Given the description of an element on the screen output the (x, y) to click on. 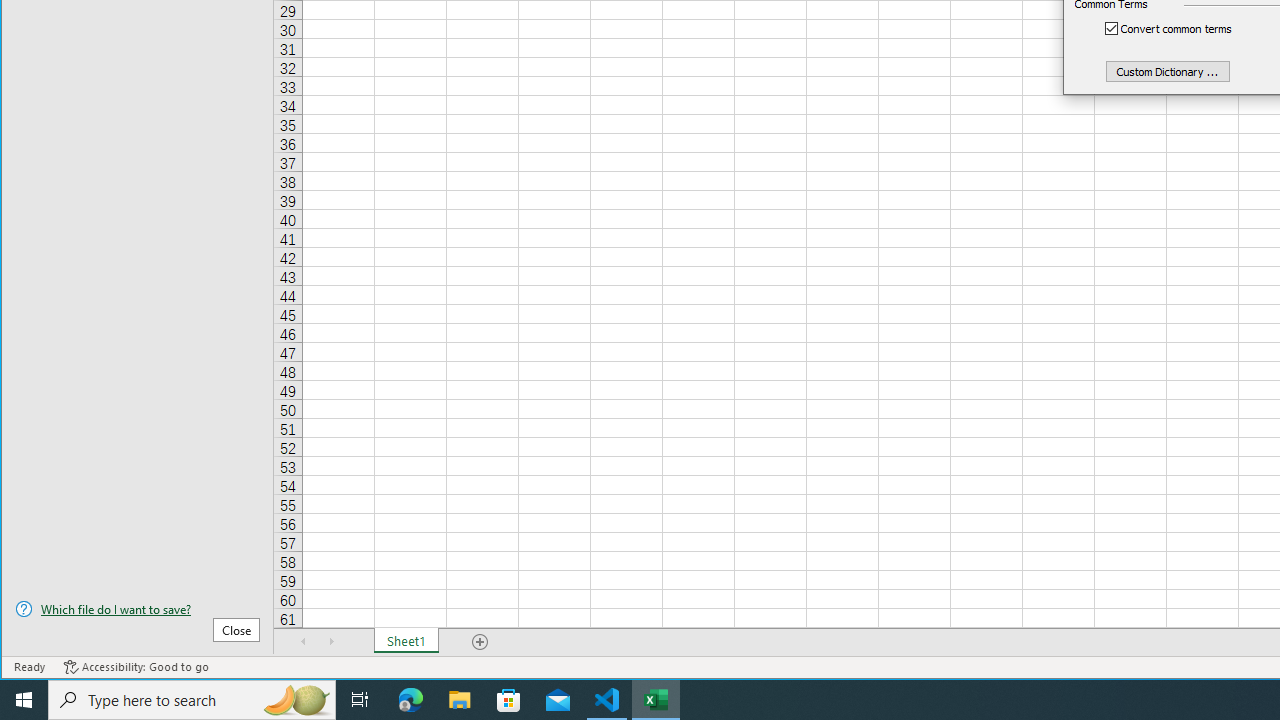
Start (24, 699)
Custom Dictionary ... (1167, 70)
Type here to search (191, 699)
Microsoft Edge (411, 699)
